Given the description of an element on the screen output the (x, y) to click on. 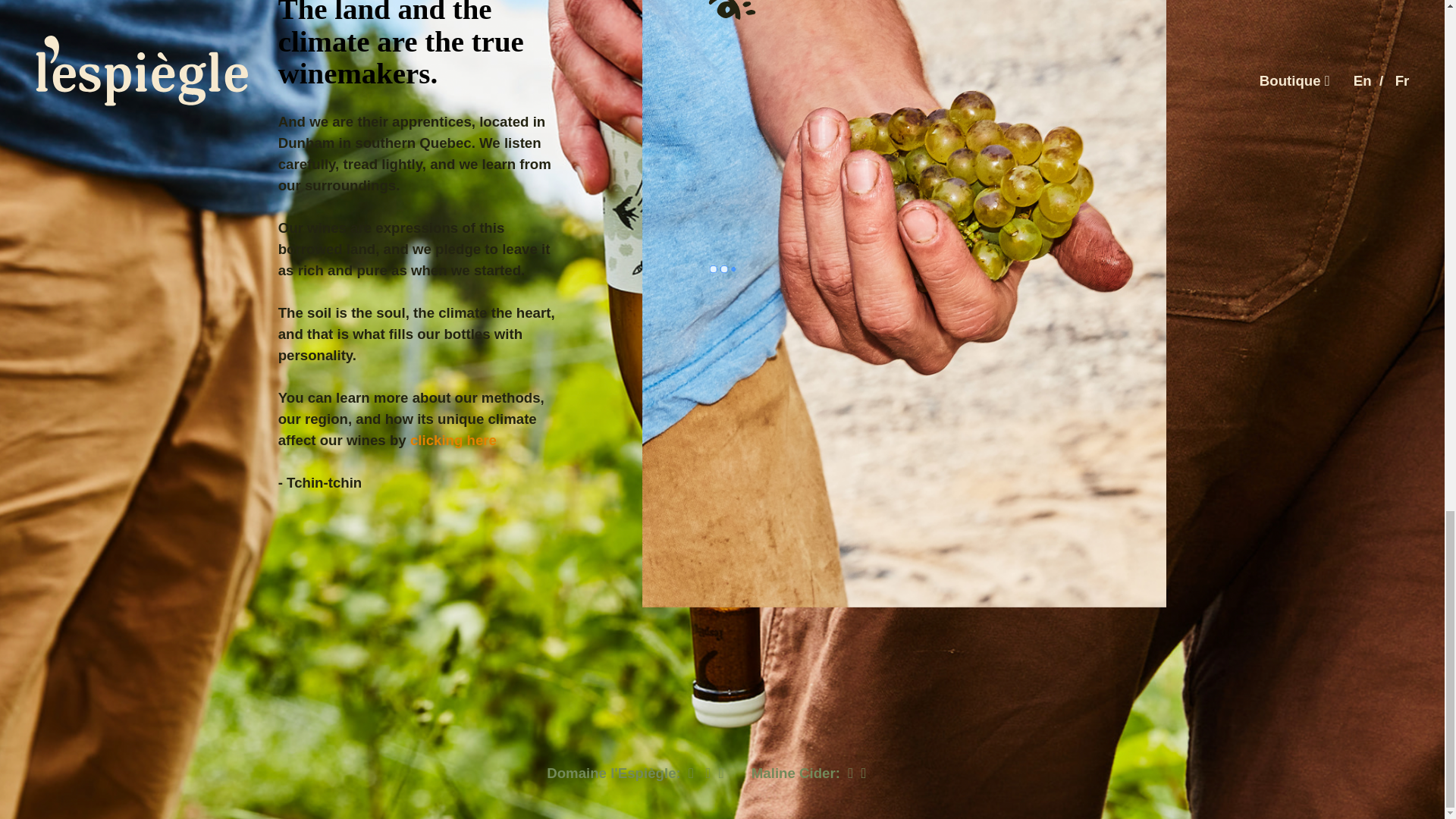
clicking here (453, 440)
